Given the description of an element on the screen output the (x, y) to click on. 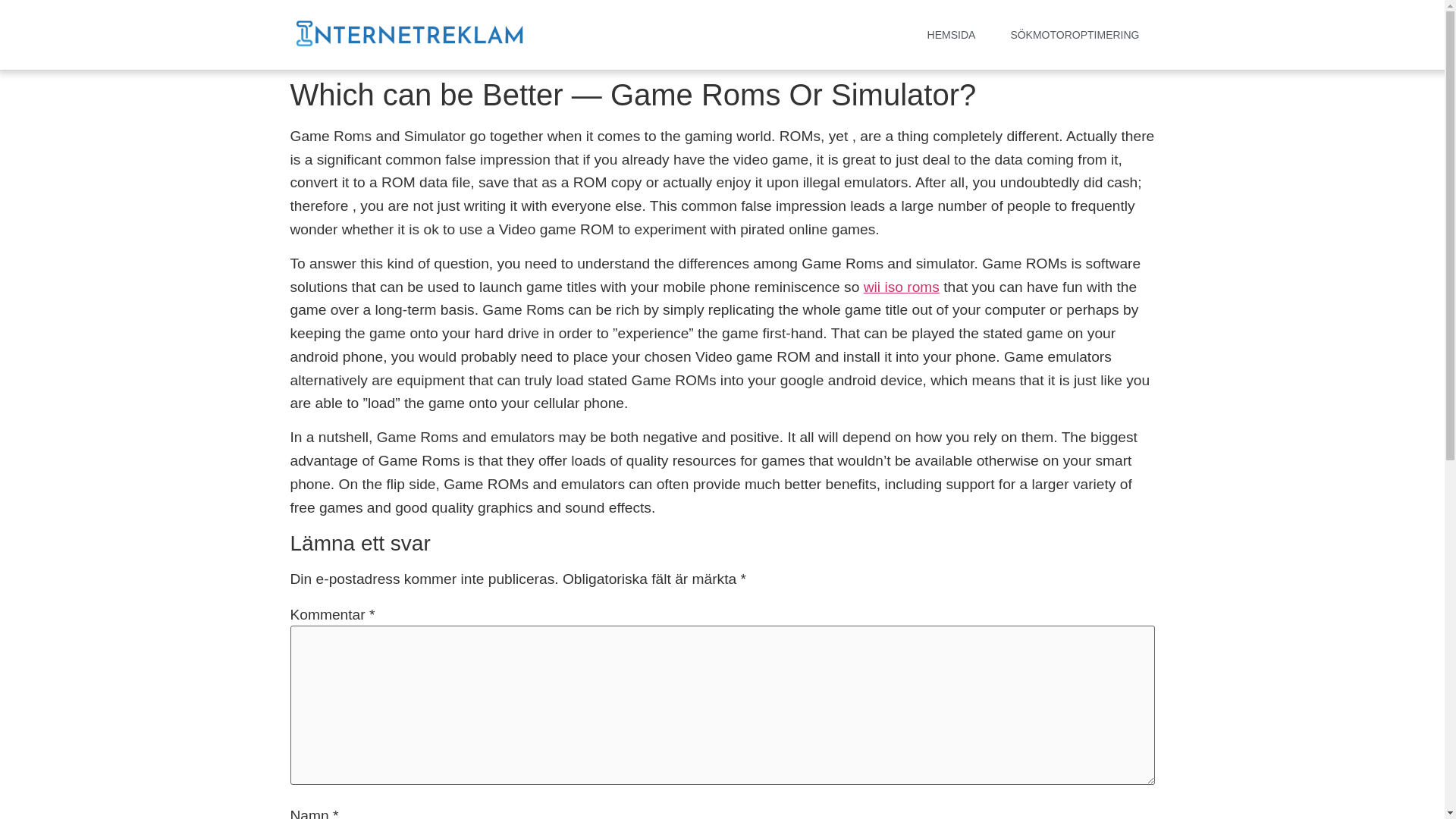
wii iso roms (901, 286)
HEMSIDA (951, 34)
